Given the description of an element on the screen output the (x, y) to click on. 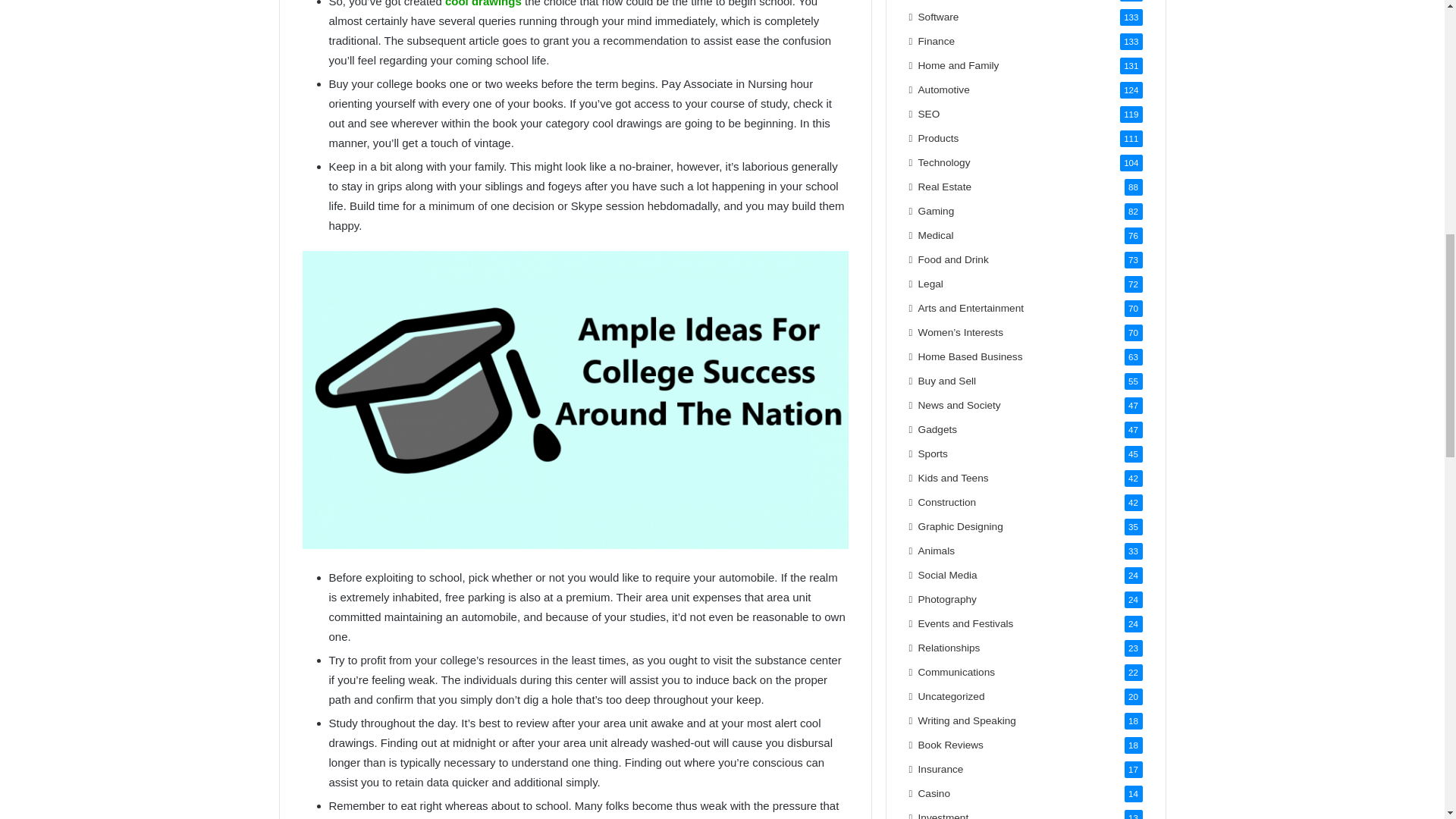
cool drawings (483, 3)
